Given the description of an element on the screen output the (x, y) to click on. 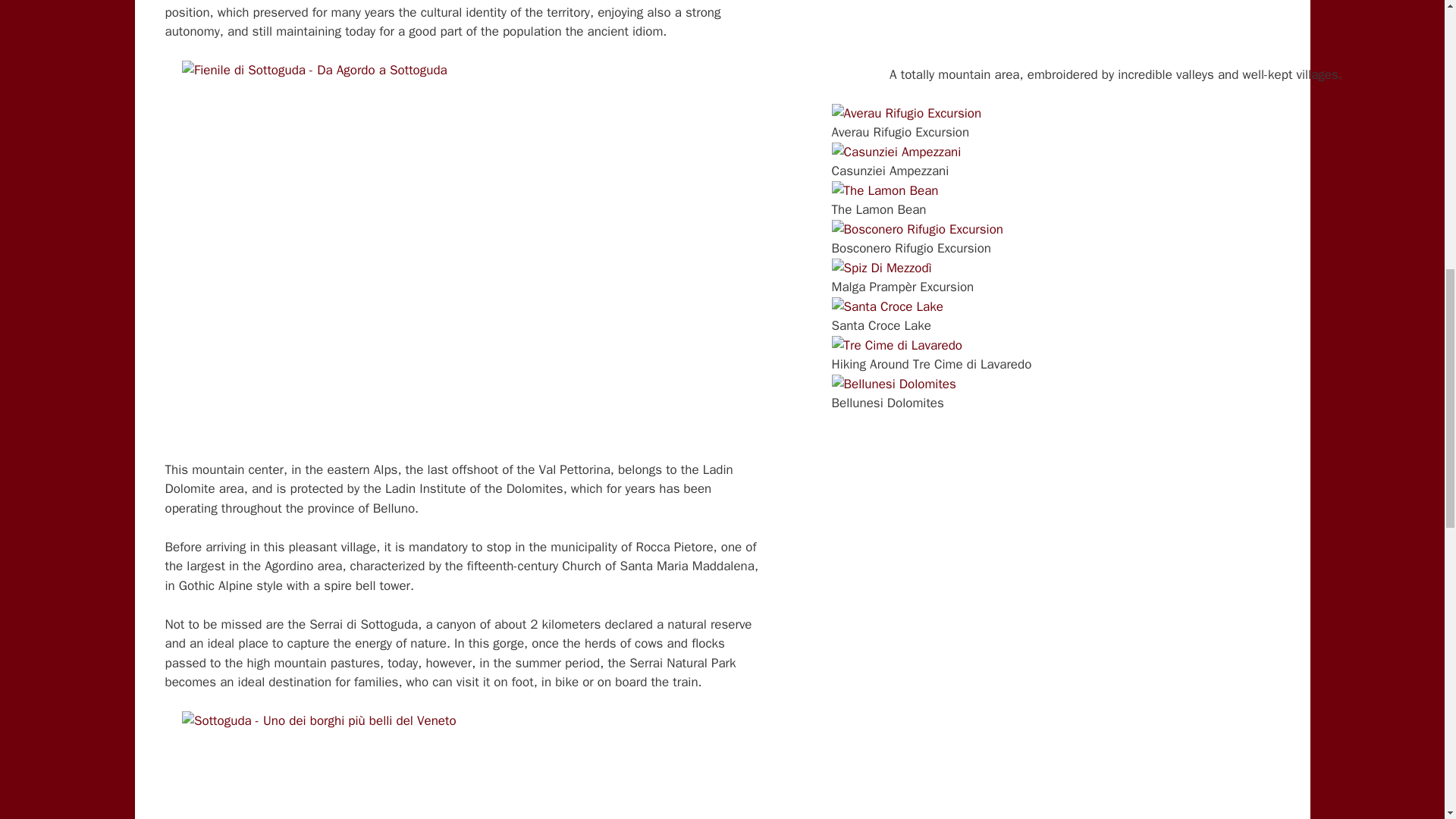
Sottoguda (466, 765)
The Belluno Province (1115, 22)
